Given the description of an element on the screen output the (x, y) to click on. 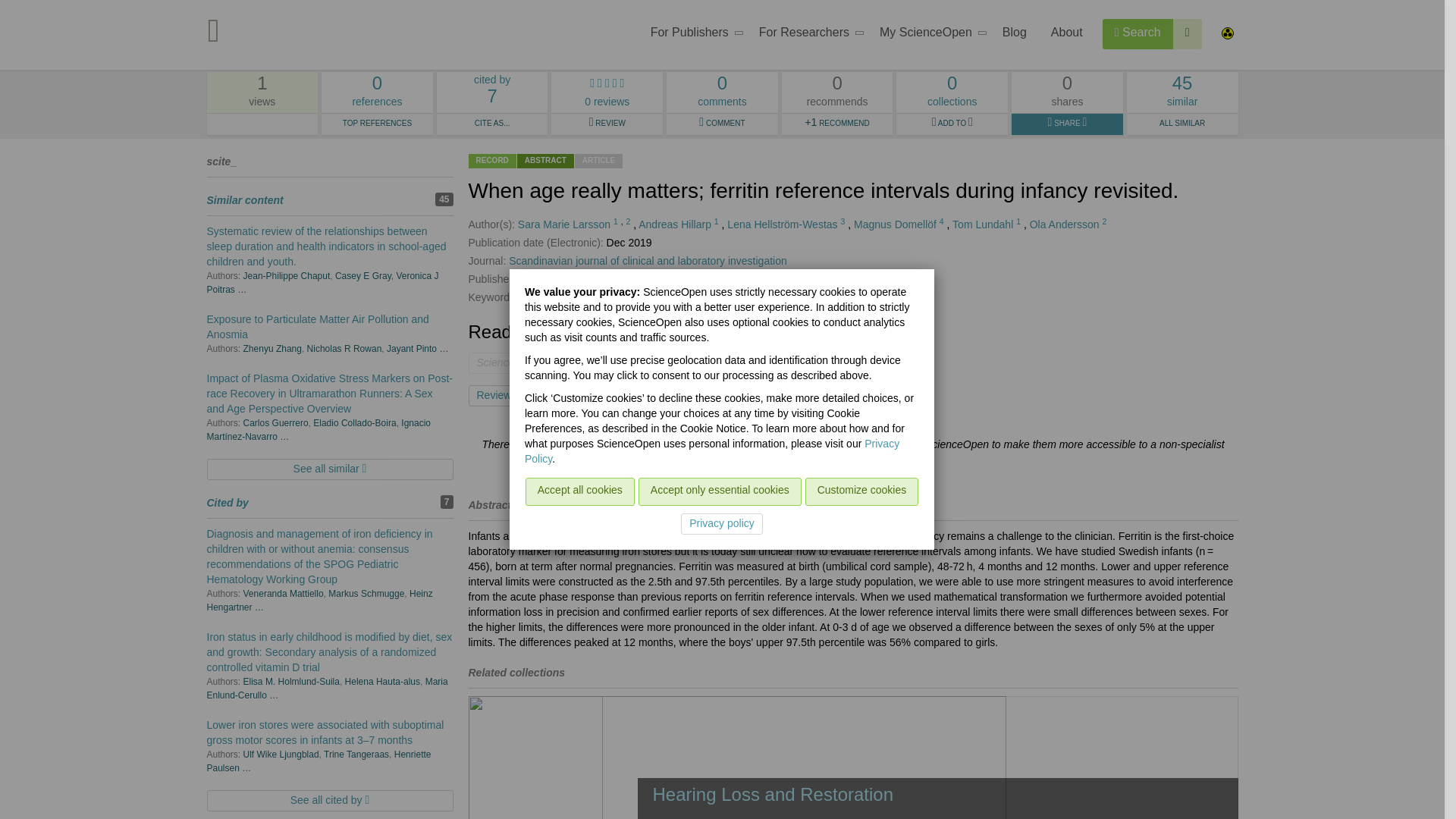
For Researchers (806, 34)
Bookmark (569, 395)
For Publishers (692, 34)
My ScienceOpen (376, 92)
Advanced search (928, 34)
TOP REFERENCES (1187, 33)
Search (376, 124)
